Given the description of an element on the screen output the (x, y) to click on. 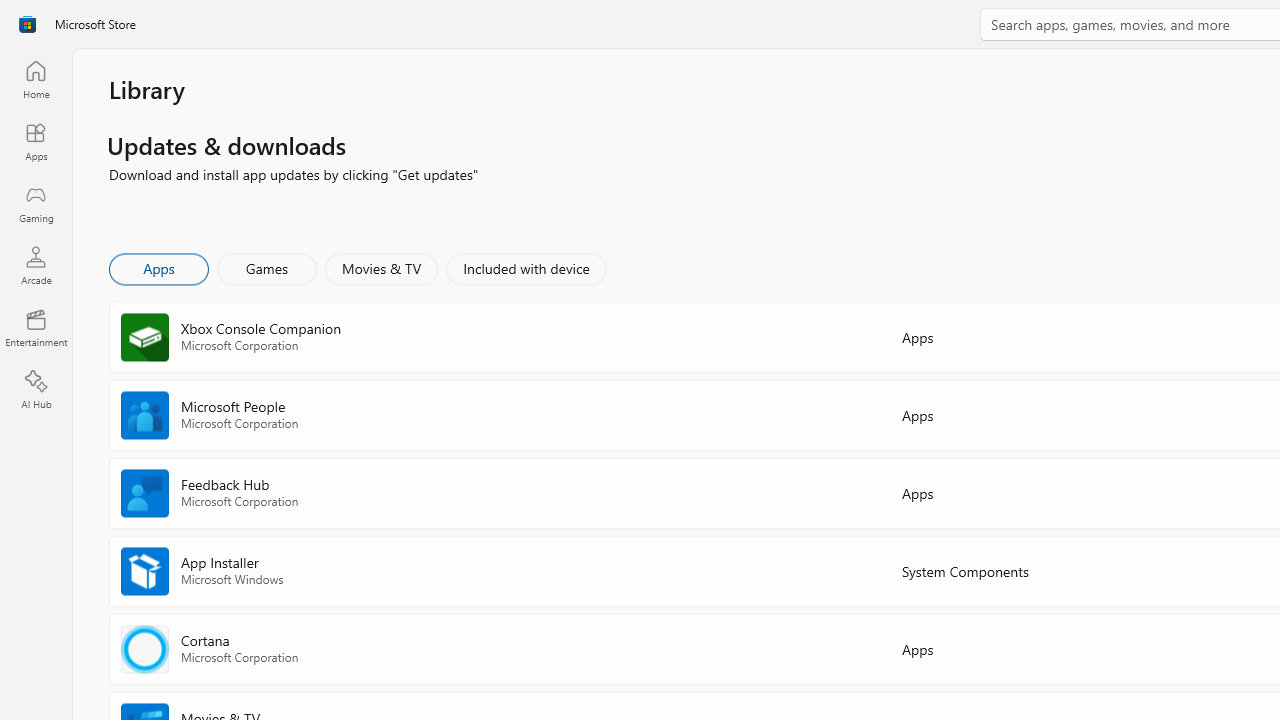
Home (35, 79)
Gaming (35, 203)
Entertainment (35, 327)
Games (267, 268)
Apps (158, 268)
Class: Image (27, 24)
AI Hub (35, 390)
Included with device (525, 268)
Apps (35, 141)
Arcade (35, 265)
Movies & TV (381, 268)
